Given the description of an element on the screen output the (x, y) to click on. 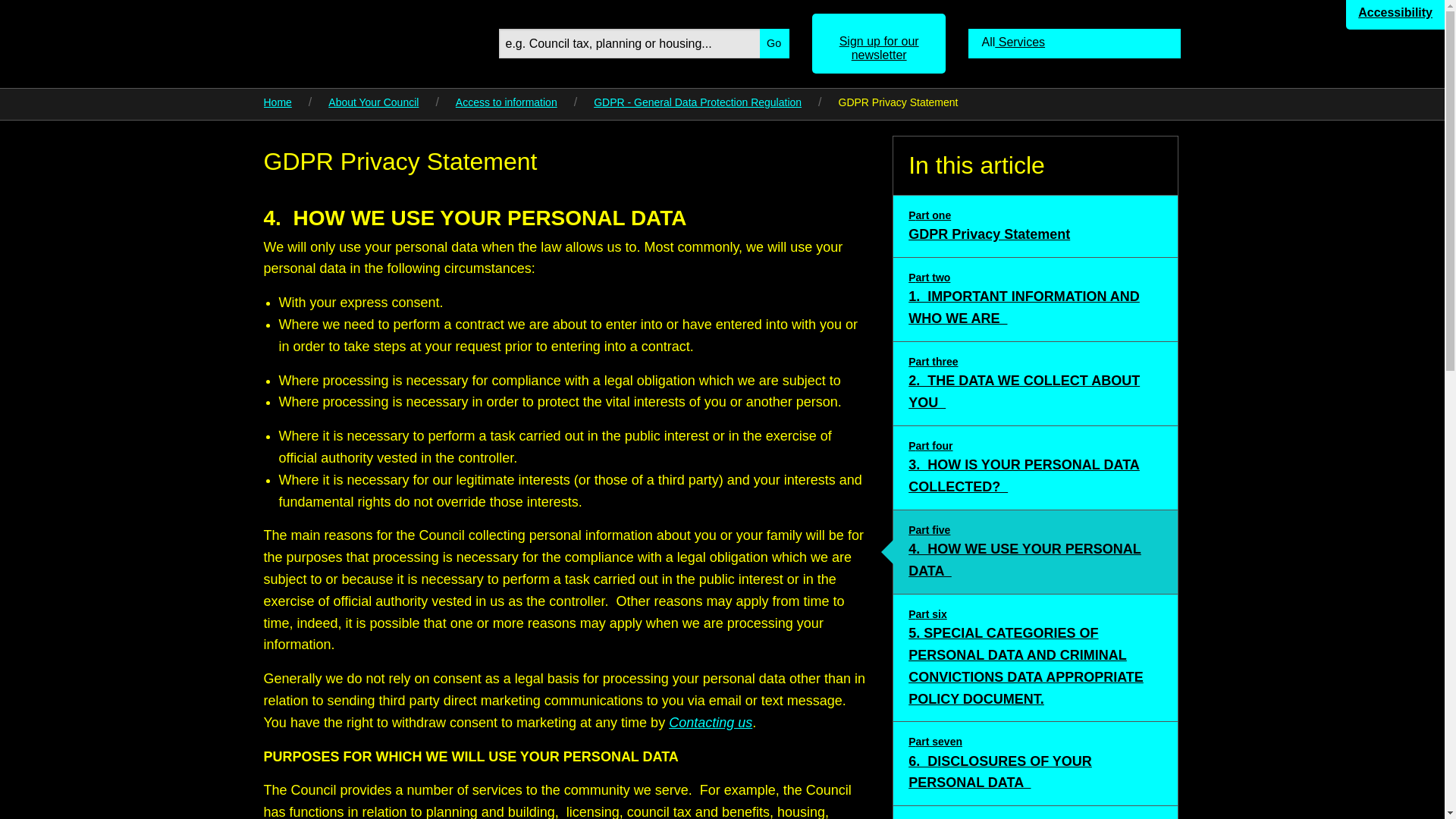
Link to Test Valley home page (369, 41)
GDPR - General Data Protection Regulation (698, 102)
All Services (1035, 226)
Contacting us (1074, 43)
Sign up for our newsletter (1035, 383)
Go (710, 722)
Home (1035, 763)
Viewing this page (879, 43)
About Your Council (774, 43)
Access to information (277, 102)
